Given the description of an element on the screen output the (x, y) to click on. 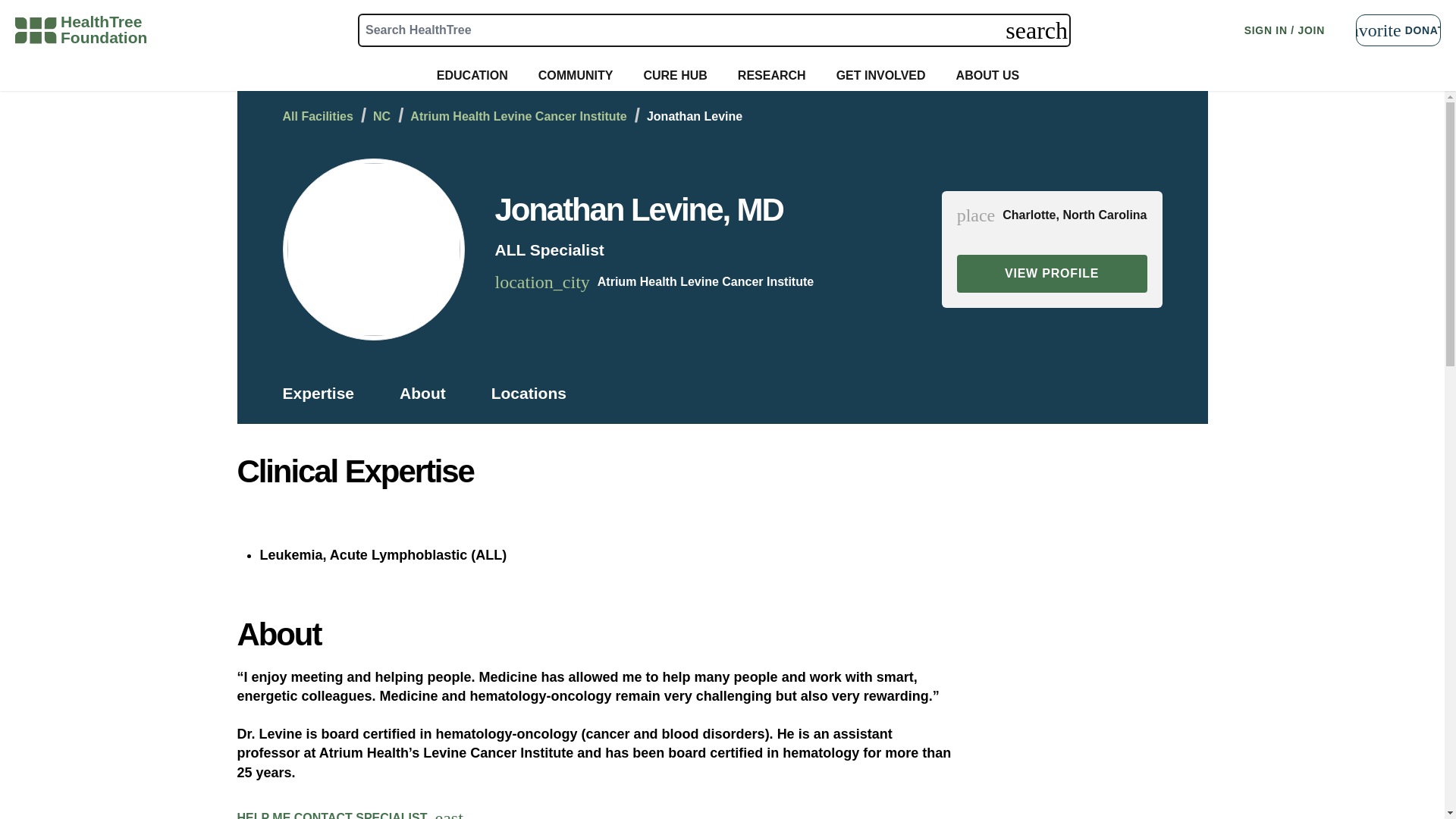
NC (381, 116)
Atrium Health Levine Cancer Institute (103, 29)
VIEW PROFILE (518, 116)
Atrium Health Levine Cancer Institute (1051, 273)
About (704, 281)
All Facilities (421, 393)
Expertise (317, 116)
Locations (1398, 29)
